Given the description of an element on the screen output the (x, y) to click on. 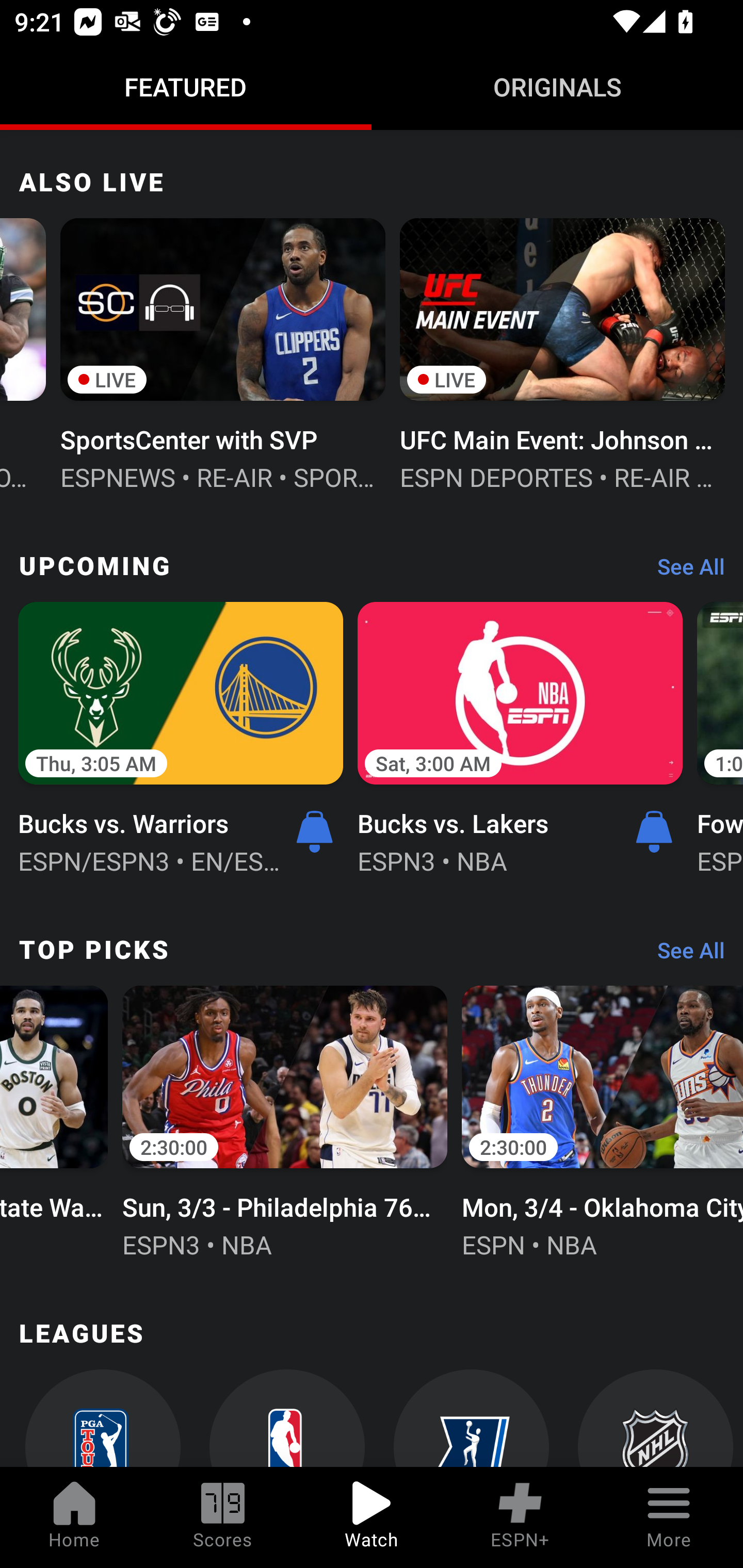
Originals ORIGINALS (557, 86)
See All (683, 571)
See All (683, 954)
Home (74, 1517)
Scores (222, 1517)
ESPN+ (519, 1517)
More (668, 1517)
